Given the description of an element on the screen output the (x, y) to click on. 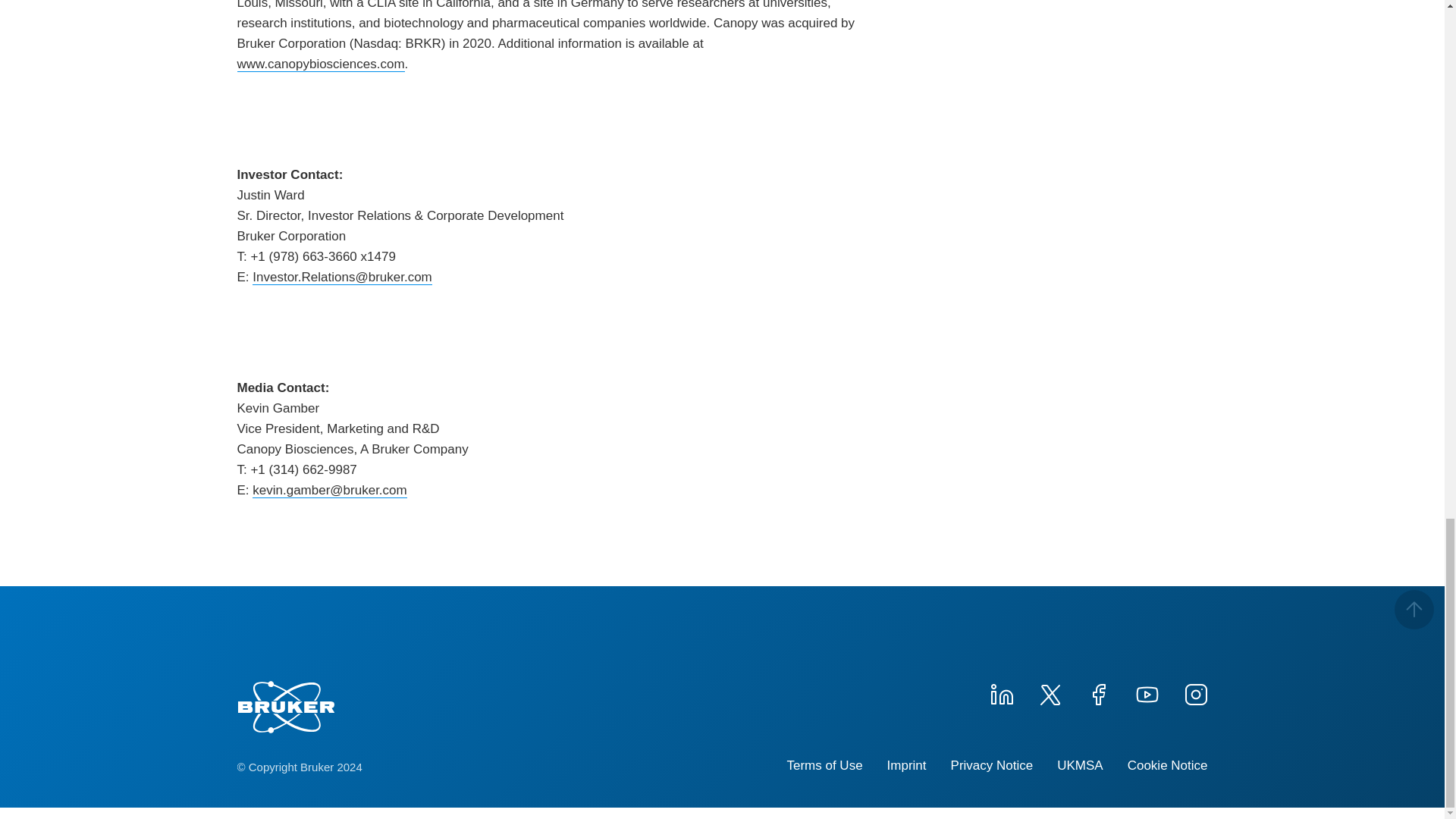
twitter (1048, 692)
linkedin (1000, 692)
Terms of Use (823, 765)
instagram (1194, 692)
Imprint (906, 765)
facebook (1097, 692)
Privacy Notice (991, 765)
www.canopybiosciences.com (319, 64)
youtube (1146, 692)
